Given the description of an element on the screen output the (x, y) to click on. 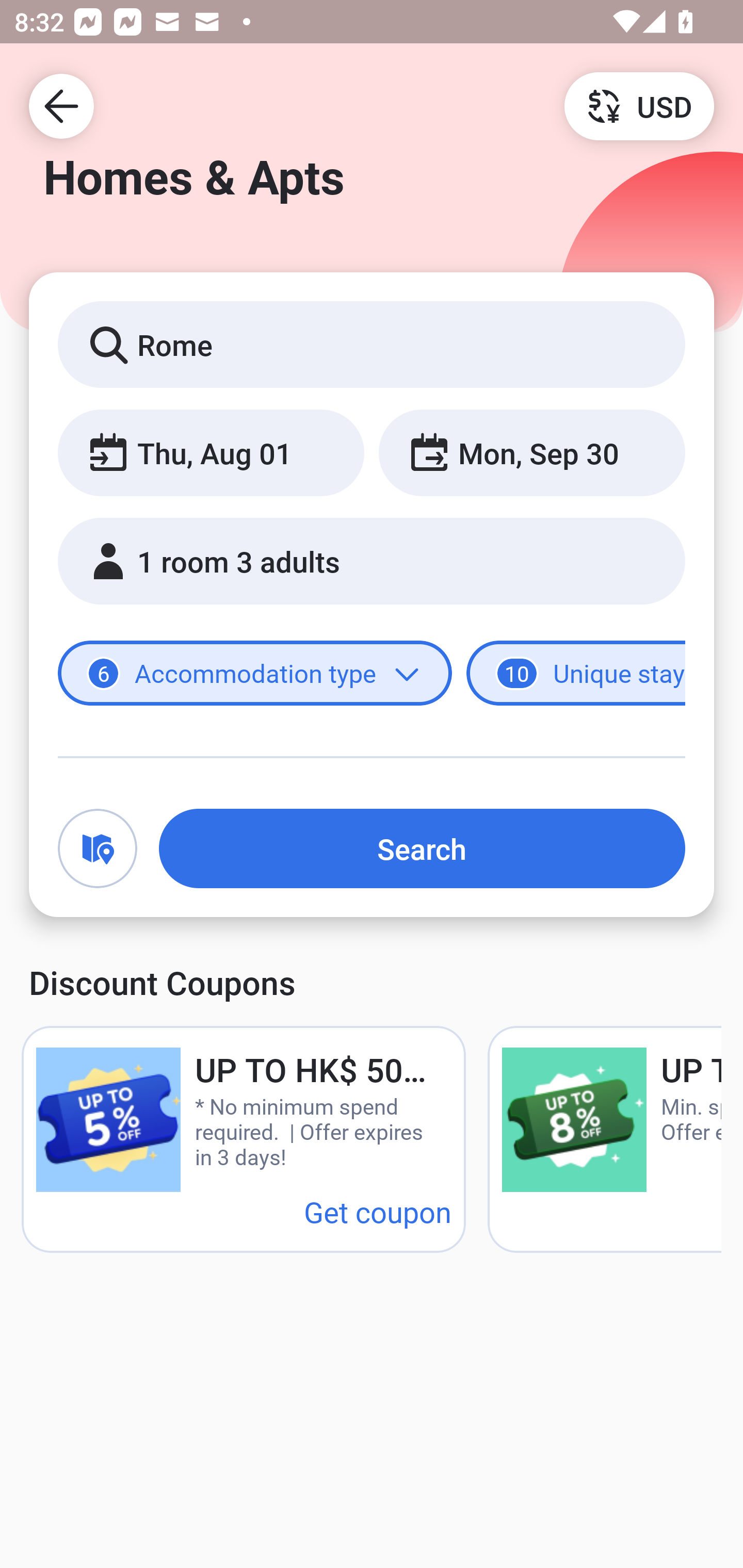
USD (639, 105)
Rome (371, 344)
Thu, Aug 01 (210, 452)
Mon, Sep 30 (531, 452)
1 room 3 adults (371, 561)
6 Accommodation type (254, 673)
10 Unique stays (575, 673)
Search (422, 848)
Get coupon (377, 1211)
